Given the description of an element on the screen output the (x, y) to click on. 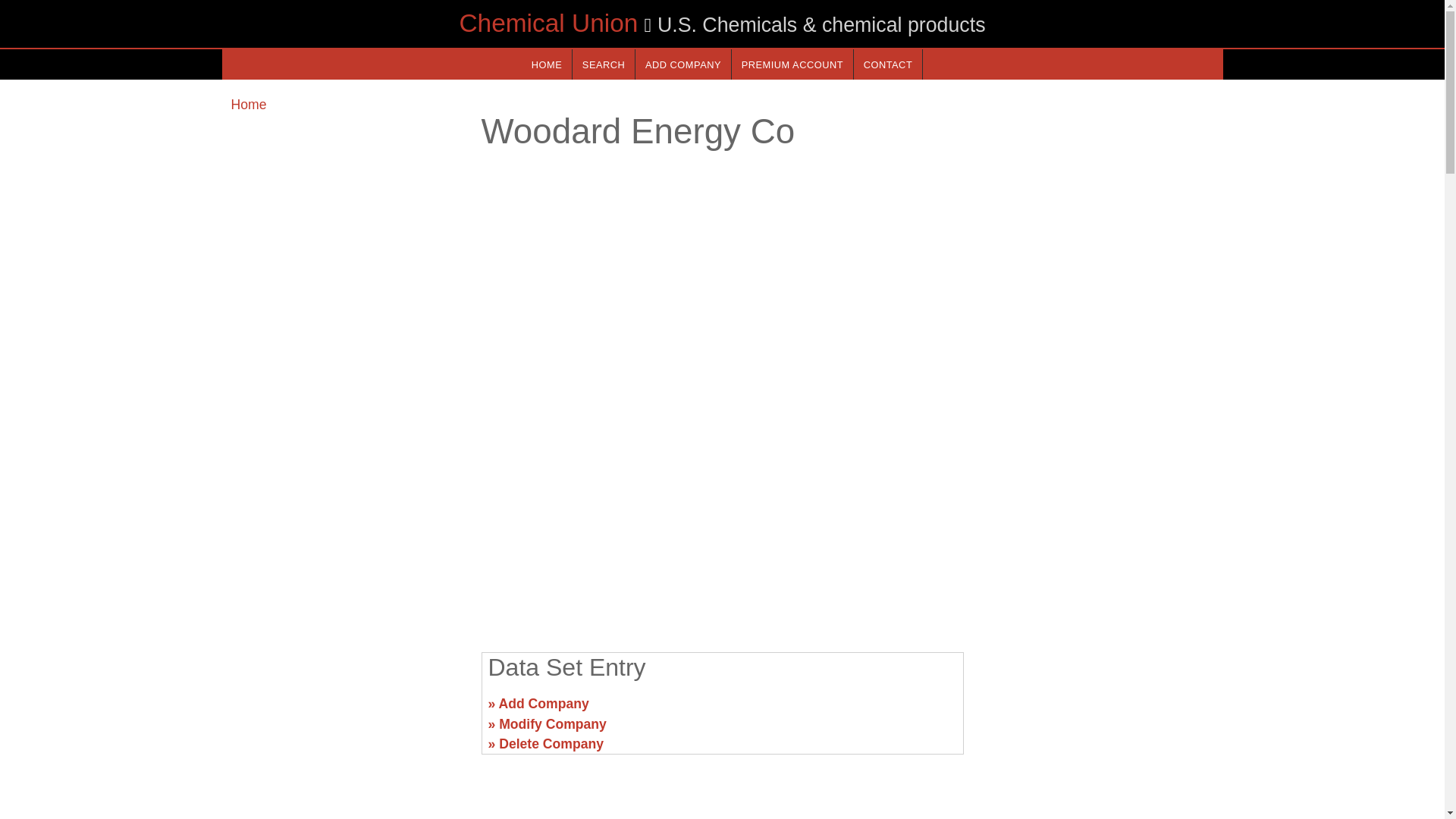
Home (248, 104)
Premium account (792, 64)
Search in this webseite. (603, 64)
Advertisement (721, 522)
Advertisement (1096, 710)
Advertisement (346, 710)
ADD COMPANY (682, 64)
Add a new company (682, 64)
HOME (546, 64)
PREMIUM ACCOUNT (792, 64)
SEARCH (603, 64)
Chemical Union (547, 22)
CONTACT (887, 64)
